Given the description of an element on the screen output the (x, y) to click on. 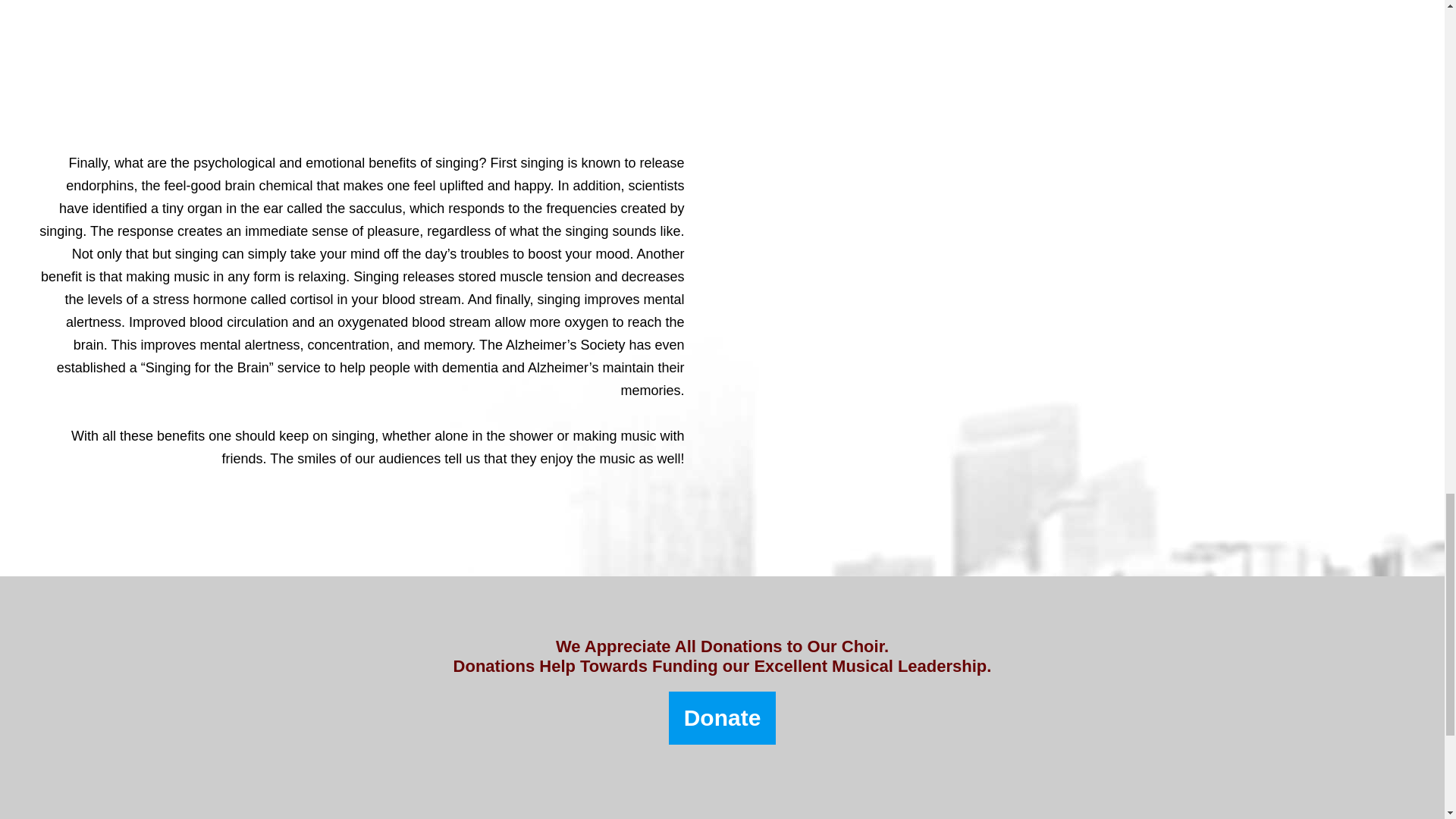
Donate (722, 717)
